Given the description of an element on the screen output the (x, y) to click on. 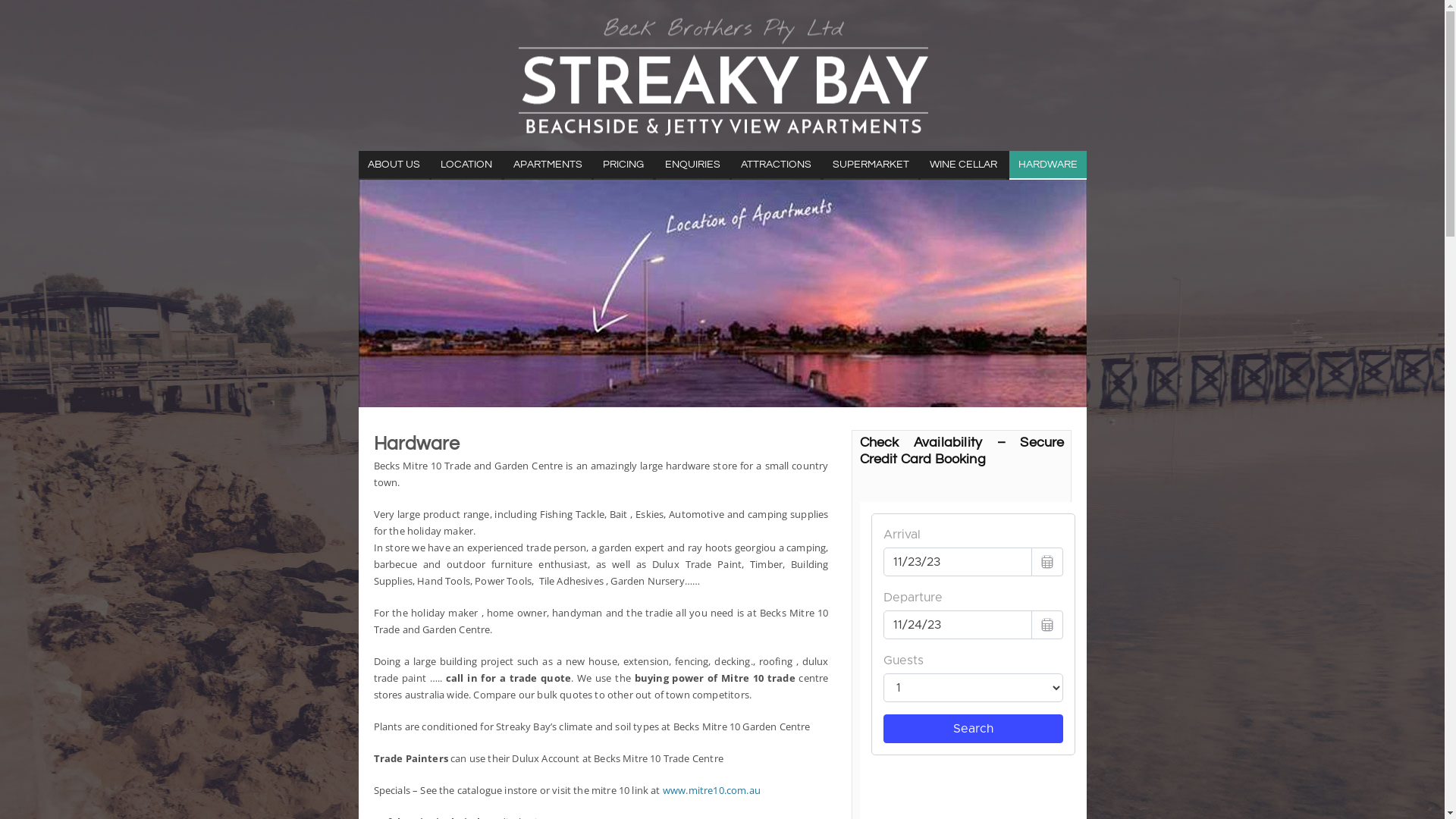
www.mitre10.com.au Element type: text (711, 790)
PRICING Element type: text (622, 164)
ABOUT US Element type: text (392, 164)
Beck Brothers Streaky Bay South Aussie - JettyView Element type: text (721, 75)
ENQUIRIES Element type: text (691, 164)
HARDWARE Element type: text (1046, 164)
LOCATION Element type: text (466, 164)
ATTRACTIONS Element type: text (775, 164)
WINE CELLAR Element type: text (963, 164)
APARTMENTS Element type: text (546, 164)
SUPERMARKET Element type: text (870, 164)
